Given the description of an element on the screen output the (x, y) to click on. 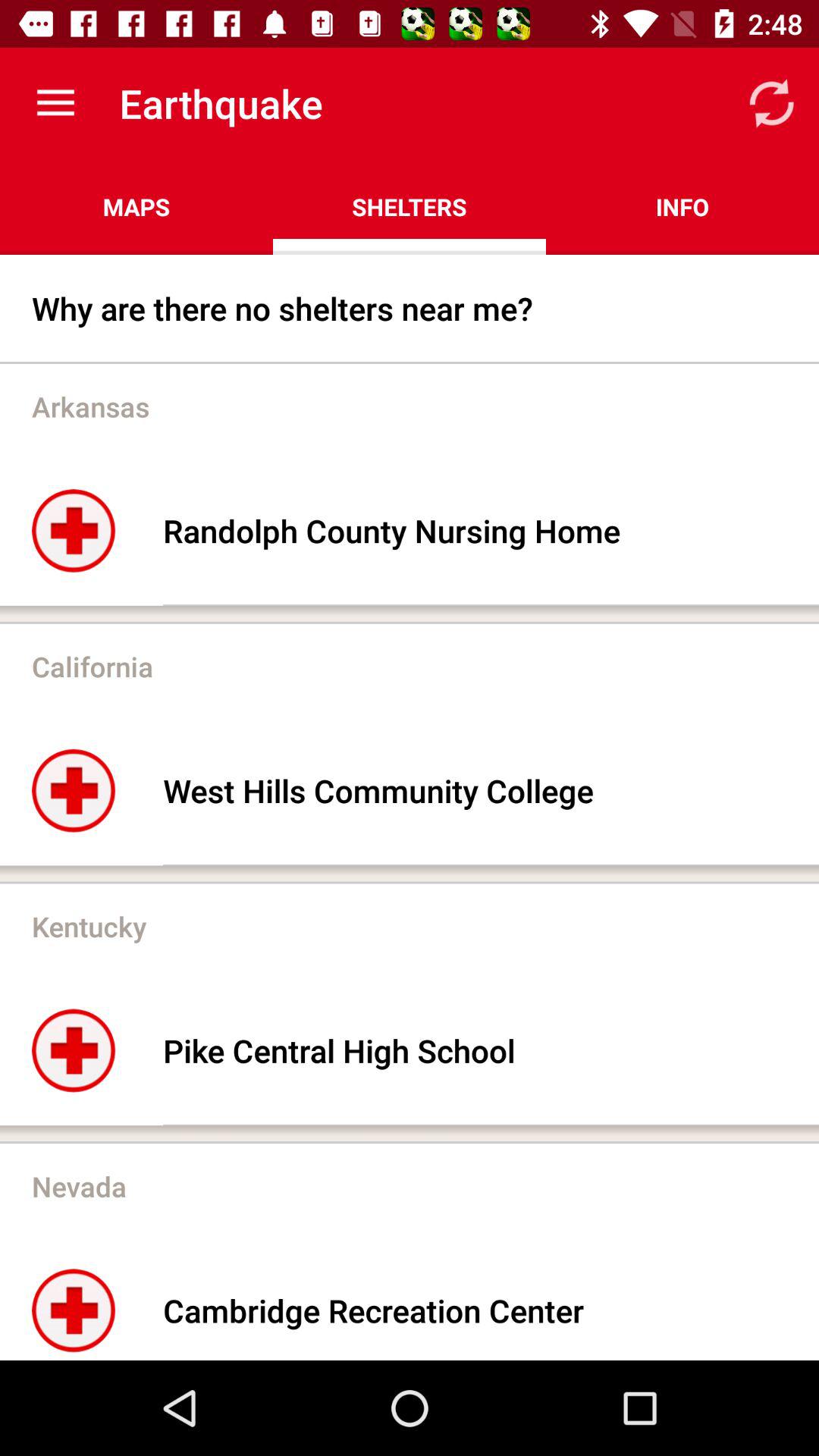
launch the maps icon (136, 206)
